Given the description of an element on the screen output the (x, y) to click on. 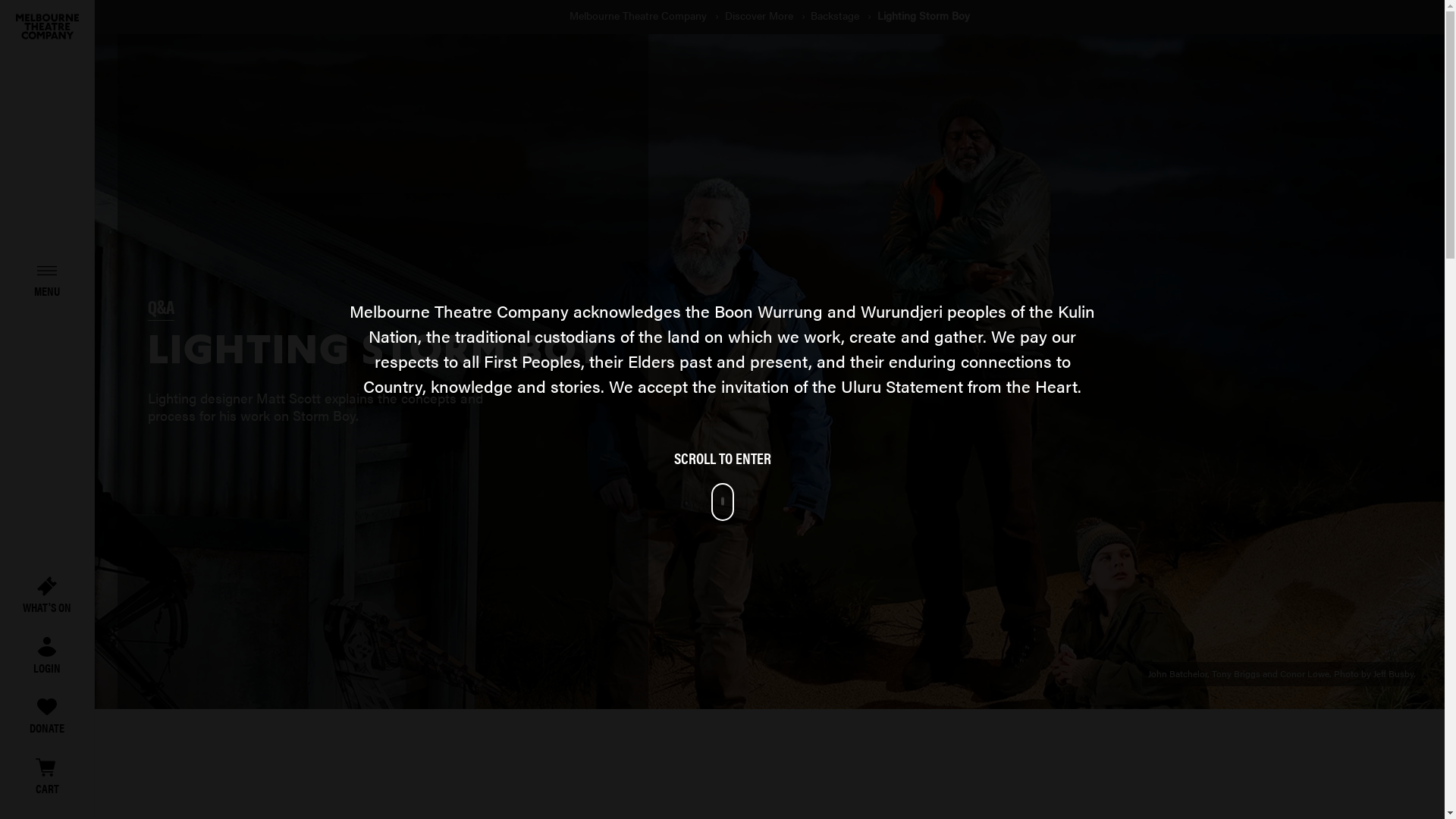
WHAT'S ON Element type: text (46, 595)
CART Element type: text (46, 776)
Q&A Element type: text (160, 307)
MENU Element type: text (46, 279)
DONATE Element type: text (46, 716)
Discover More Element type: text (760, 15)
LOGIN Element type: text (46, 656)
Backstage Element type: text (836, 15)
Click to close Acknowledgement of Country Element type: text (721, 447)
Melbourne Theatre Company Element type: text (639, 15)
